Given the description of an element on the screen output the (x, y) to click on. 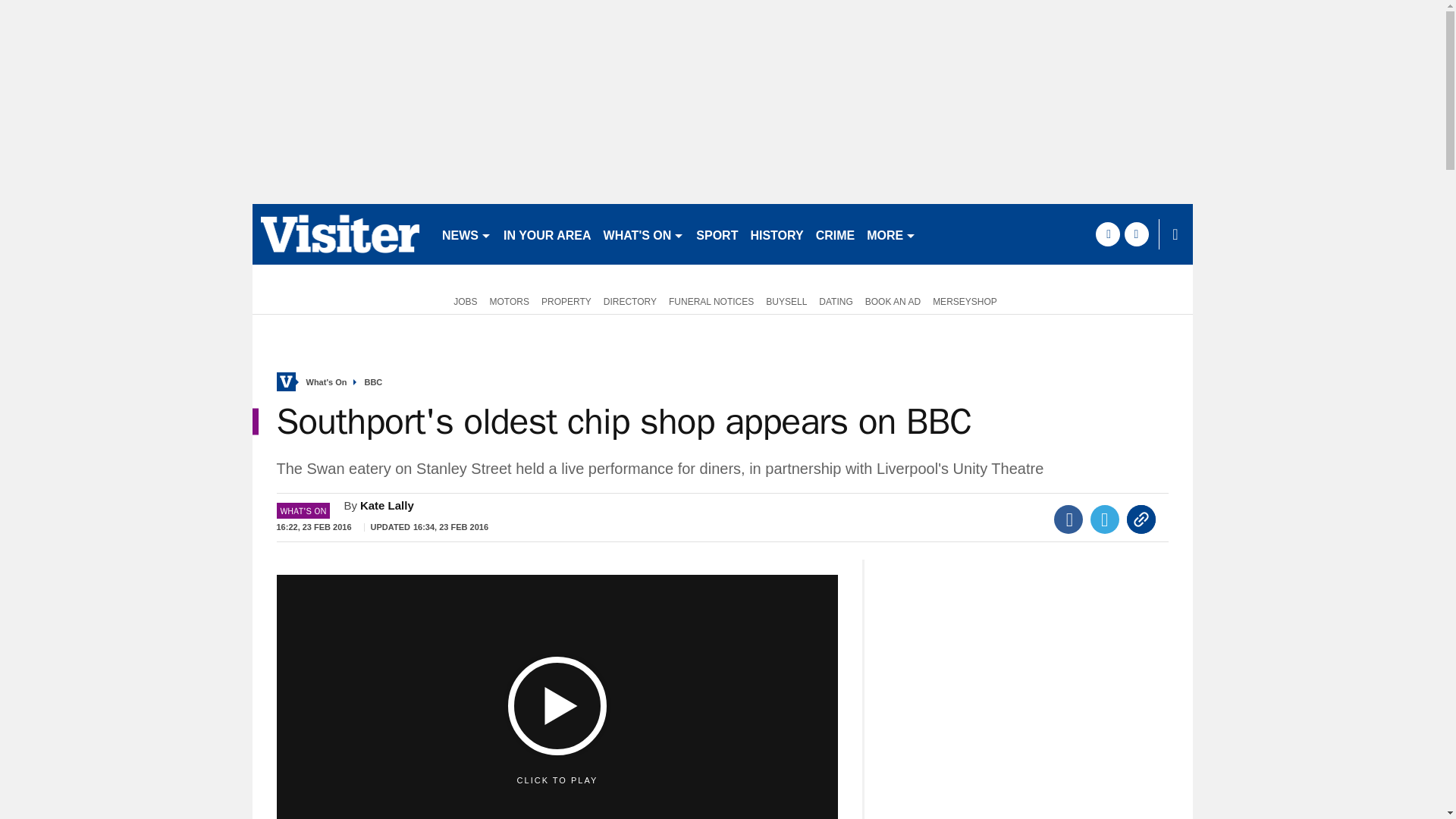
DIRECTORY (629, 300)
NEWS (466, 233)
IN YOUR AREA (546, 233)
twitter (1136, 233)
MERSEYSHOP (964, 300)
MOTORS (509, 300)
Facebook (1068, 519)
BOOK AN AD (892, 300)
JOBS (462, 300)
BUYSELL (786, 300)
facebook (1106, 233)
southportvisiter (339, 233)
WHAT'S ON (643, 233)
HISTORY (776, 233)
Twitter (1104, 519)
